Given the description of an element on the screen output the (x, y) to click on. 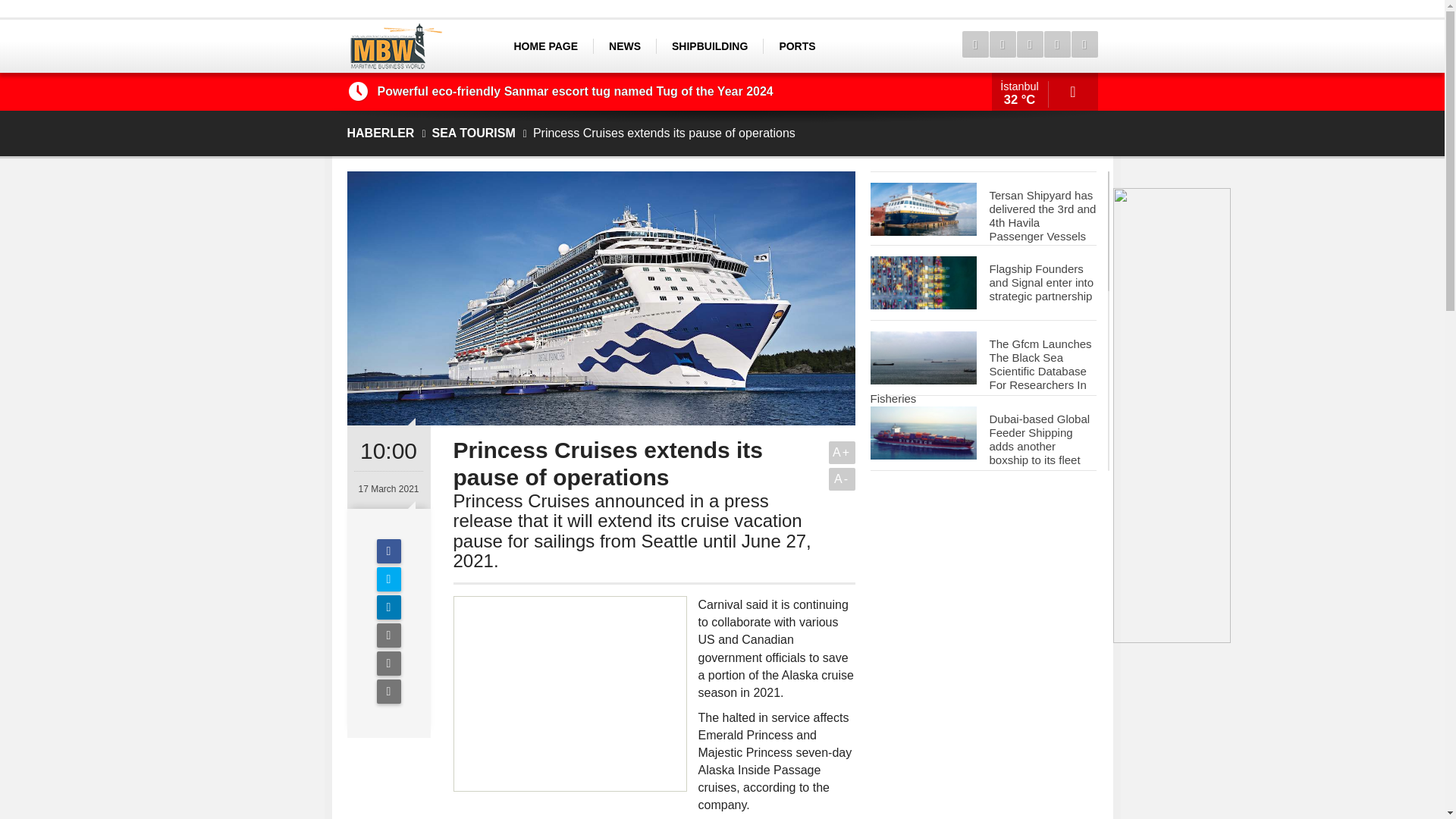
PORTS (795, 46)
Facebook (387, 550)
Menu (974, 44)
Hava durumu (1044, 91)
Yorum Yap (387, 691)
HOME PAGE (546, 46)
Advertisement (570, 693)
Web TV (1001, 44)
NEWS (624, 46)
LinkedIn (387, 607)
Foto Galeri (1029, 44)
SHIPBUILDING (709, 46)
Twitter (387, 579)
